Given the description of an element on the screen output the (x, y) to click on. 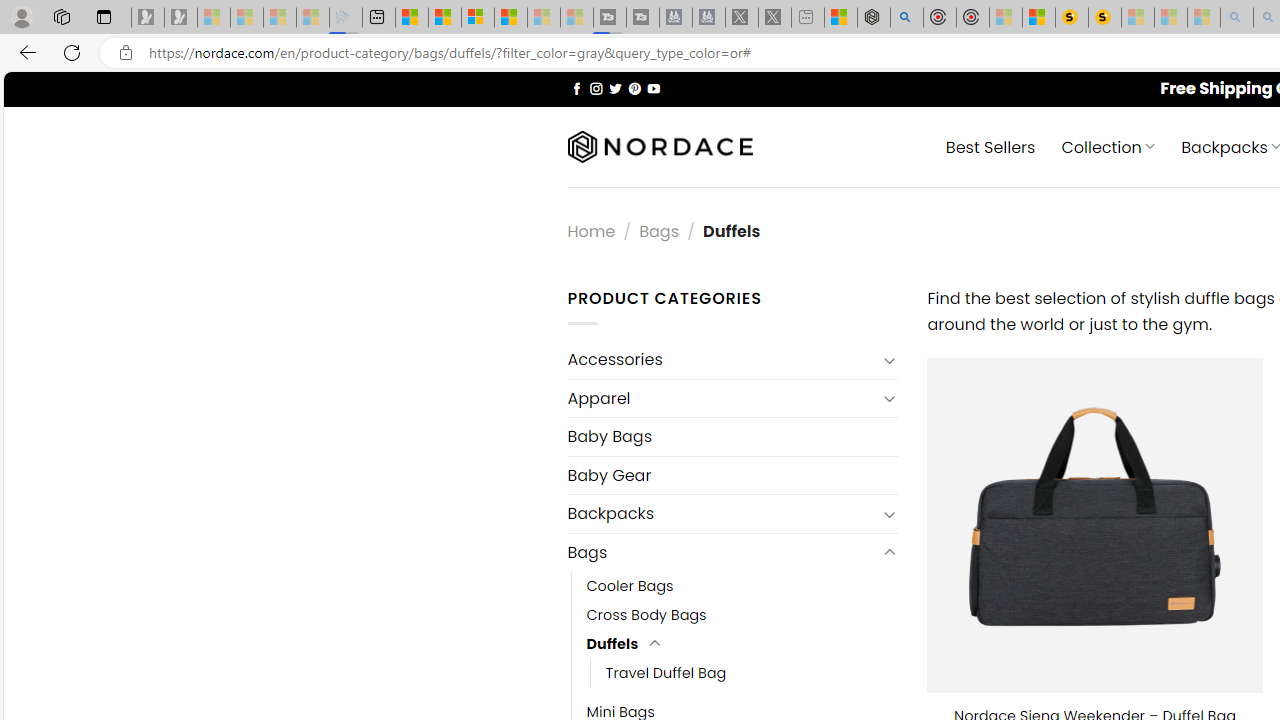
Backpacks (721, 514)
Cooler Bags (742, 585)
 Best Sellers (989, 146)
Duffels (612, 643)
Accessories (721, 359)
